Given the description of an element on the screen output the (x, y) to click on. 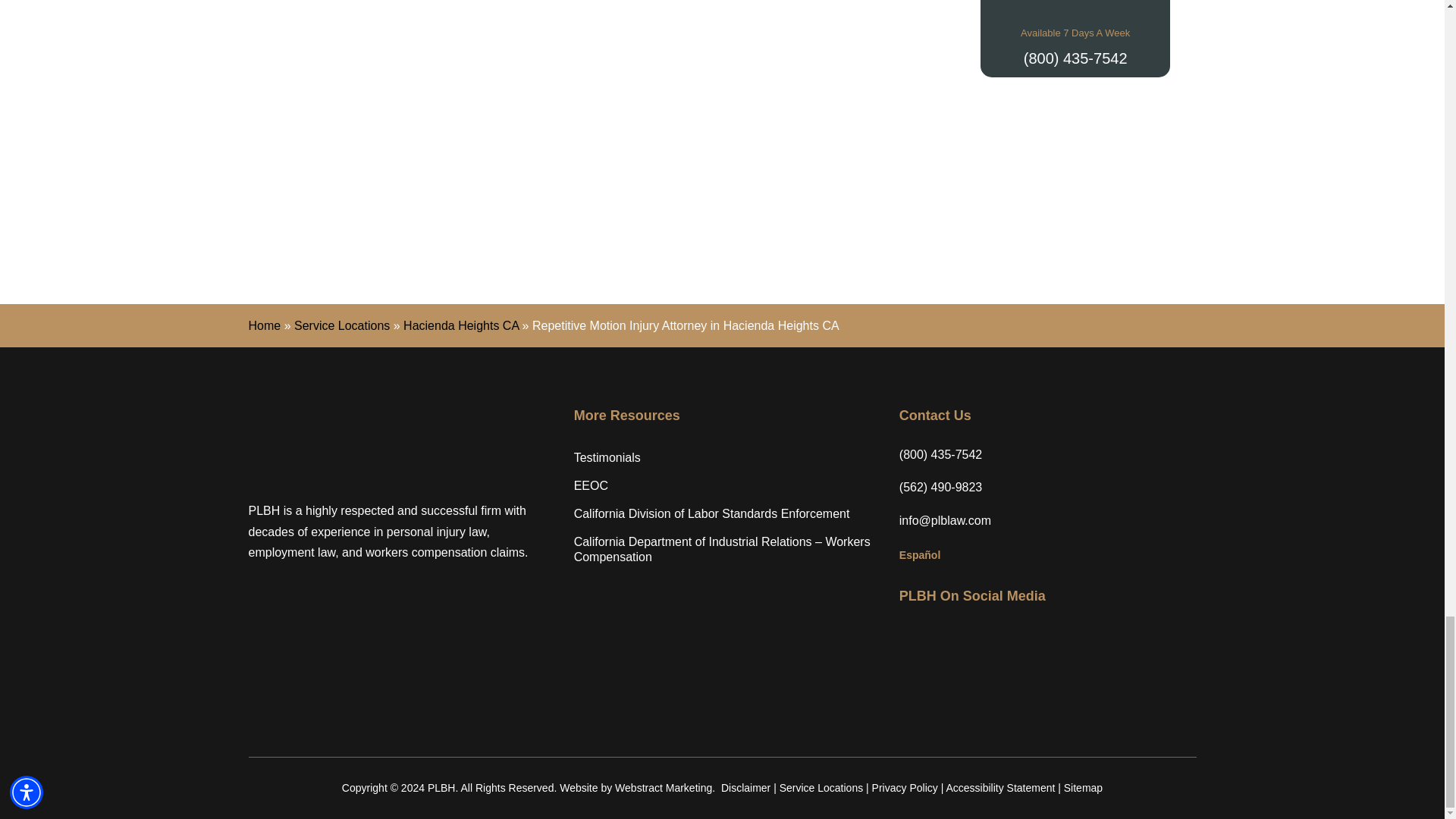
Top 10 Jury Verdicts All Practice Area PLBH (526, 185)
Email (945, 520)
Top 10 Jury Verdicts All Practice Area Todd H. Harrison (331, 185)
View the profile of Southern California Workers'  (916, 185)
This Firm is Lead Counsel Verified. (1112, 185)
PLBH (343, 442)
